Given the description of an element on the screen output the (x, y) to click on. 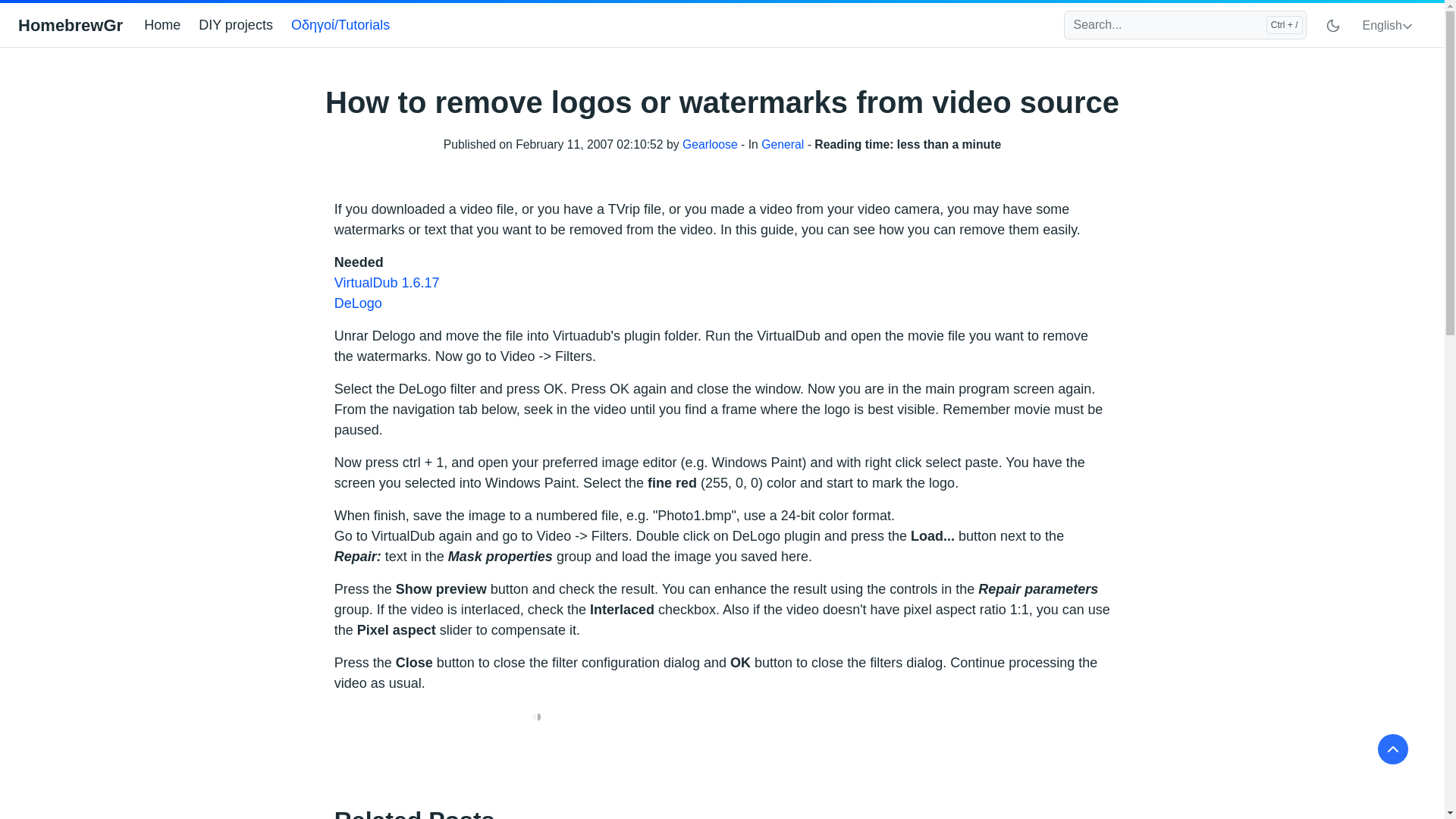
Home (168, 25)
DIY projects (241, 25)
English (1387, 25)
VirtualDub 1.6.17 (386, 282)
General (782, 144)
Gearloose (710, 144)
General (782, 144)
DIY projects (241, 25)
Gearloose (710, 144)
Home (168, 25)
